Given the description of an element on the screen output the (x, y) to click on. 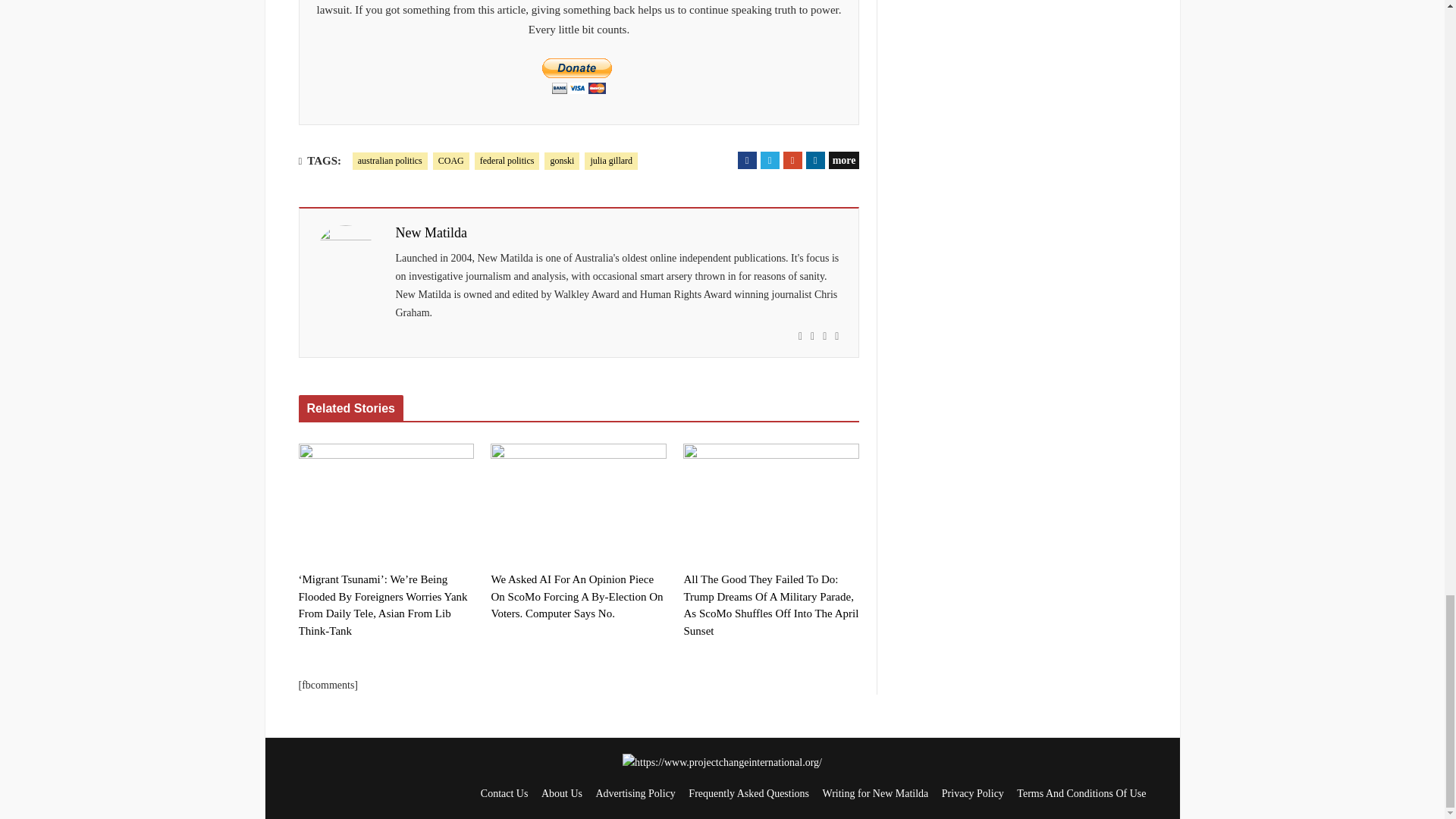
Twitter (769, 159)
Share on LinkedIn (815, 159)
julia gillard (611, 160)
Tweet It (769, 159)
federal politics (507, 160)
australian politics (390, 160)
COAG (450, 160)
Facebook (747, 159)
gonski (561, 160)
